Given the description of an element on the screen output the (x, y) to click on. 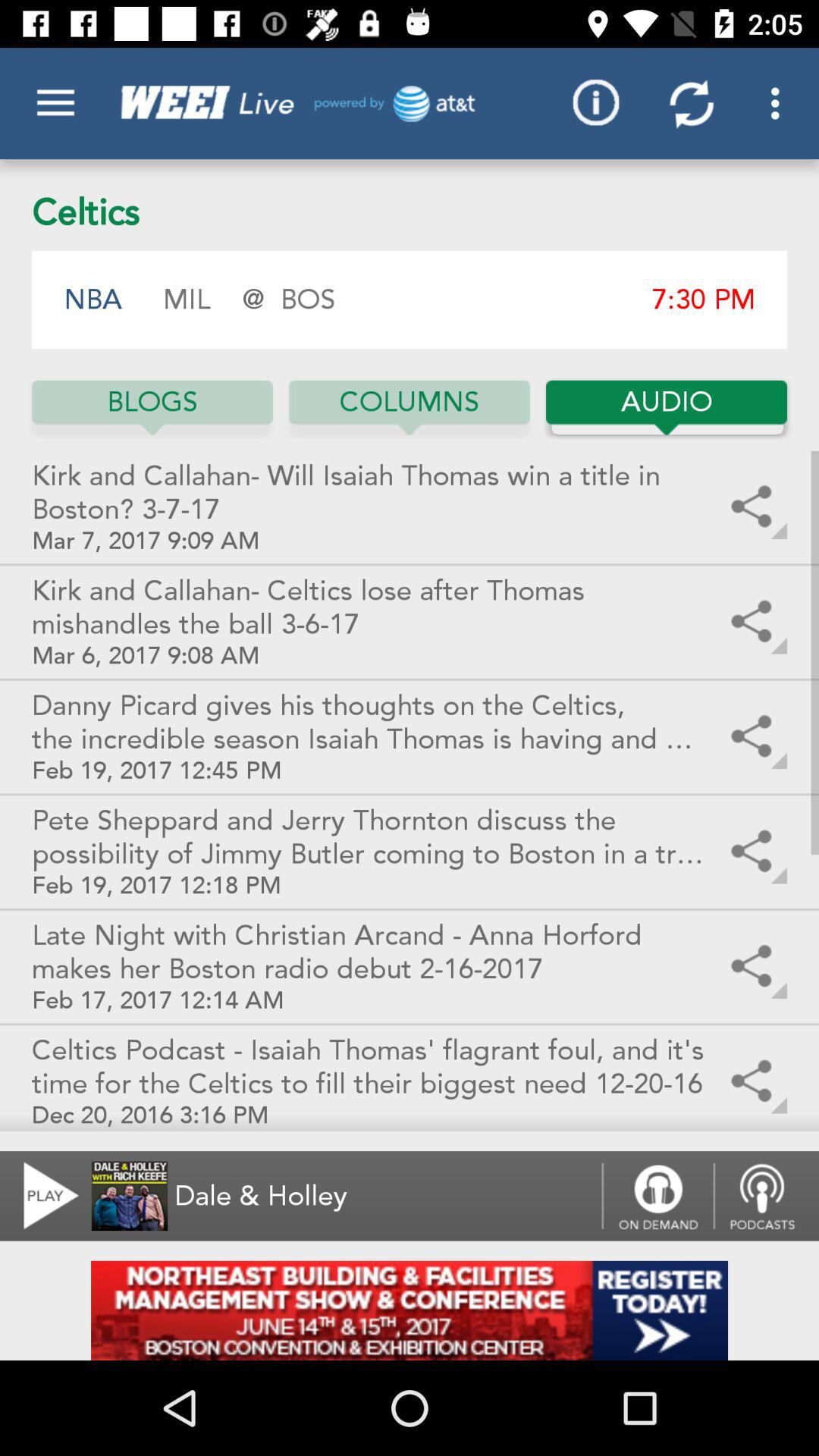
advertisement page (409, 1310)
